Given the description of an element on the screen output the (x, y) to click on. 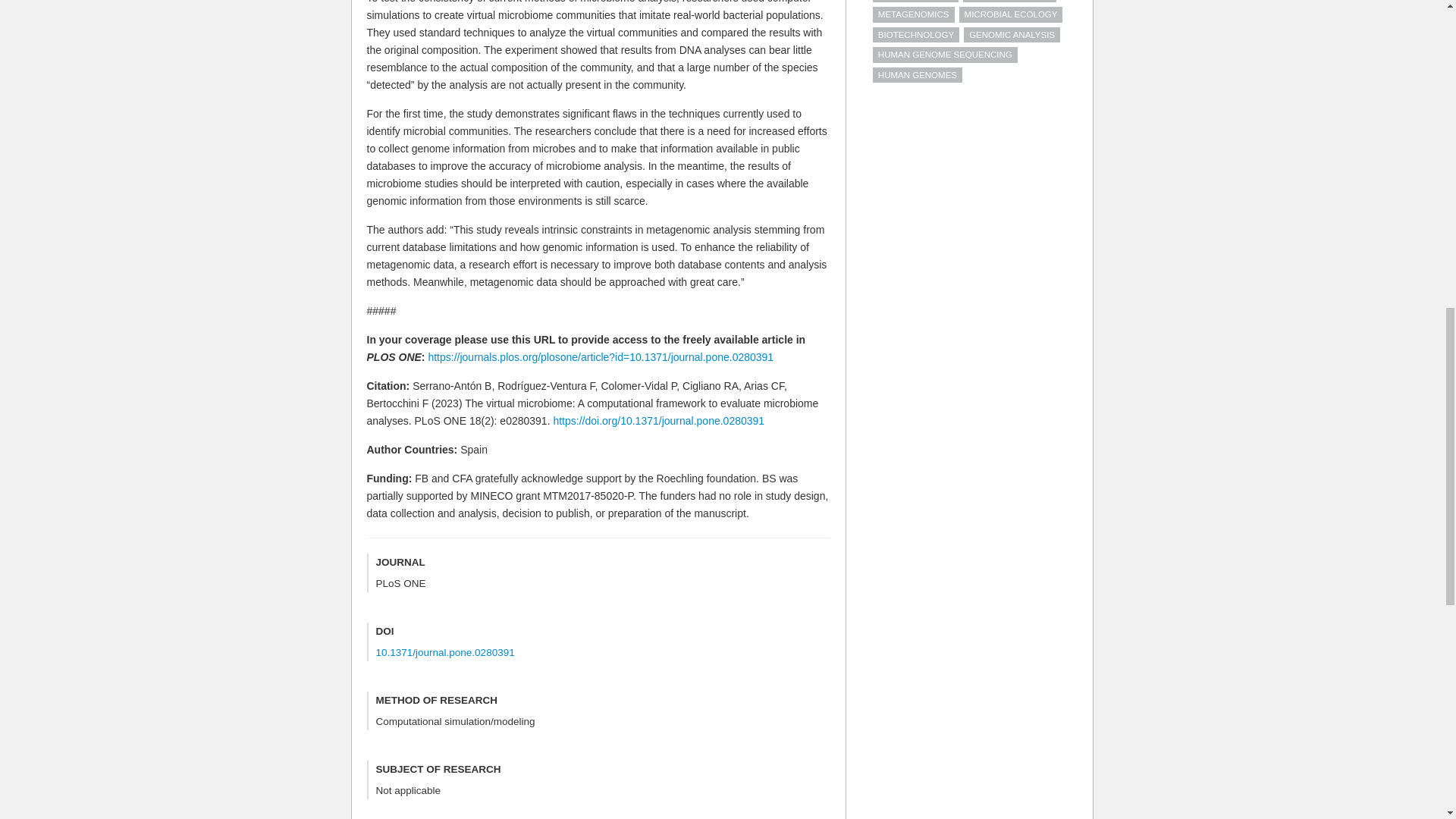
METAGENOMICS (913, 14)
DNA SEQUENCES (915, 1)
GENOMIC ANALYSIS (1011, 34)
BIOTECHNOLOGY (915, 34)
HUMAN GENOMES (917, 74)
GENETIC ANALYSIS (1009, 1)
HUMAN GENOME SEQUENCING (944, 54)
MICROBIAL ECOLOGY (1010, 14)
